Given the description of an element on the screen output the (x, y) to click on. 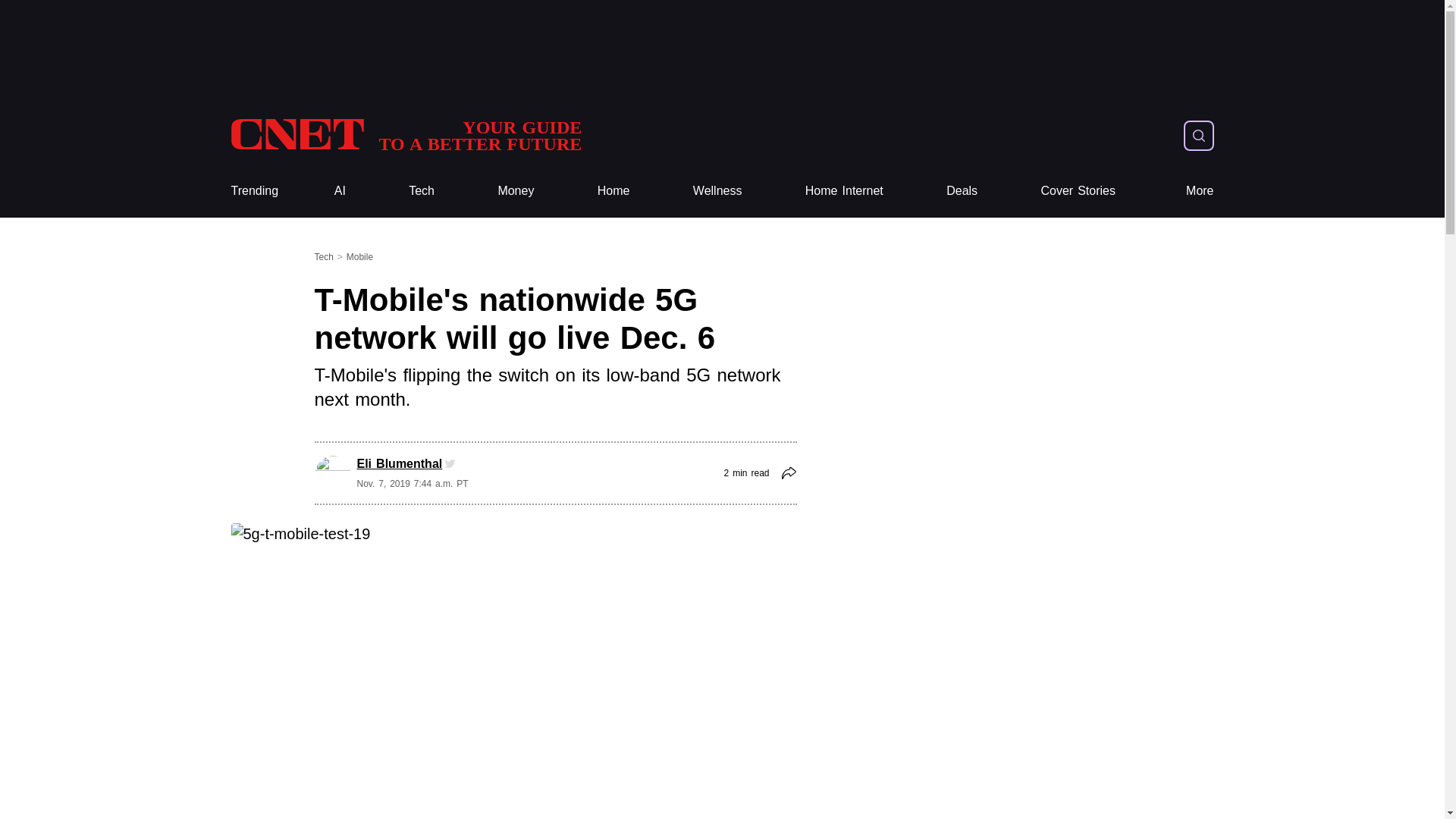
More (1199, 190)
Home Internet (844, 190)
Home Internet (844, 190)
Cover Stories (1078, 190)
Tech (421, 190)
Trending (254, 190)
Tech (421, 190)
Deals (961, 190)
Money (515, 190)
